Given the description of an element on the screen output the (x, y) to click on. 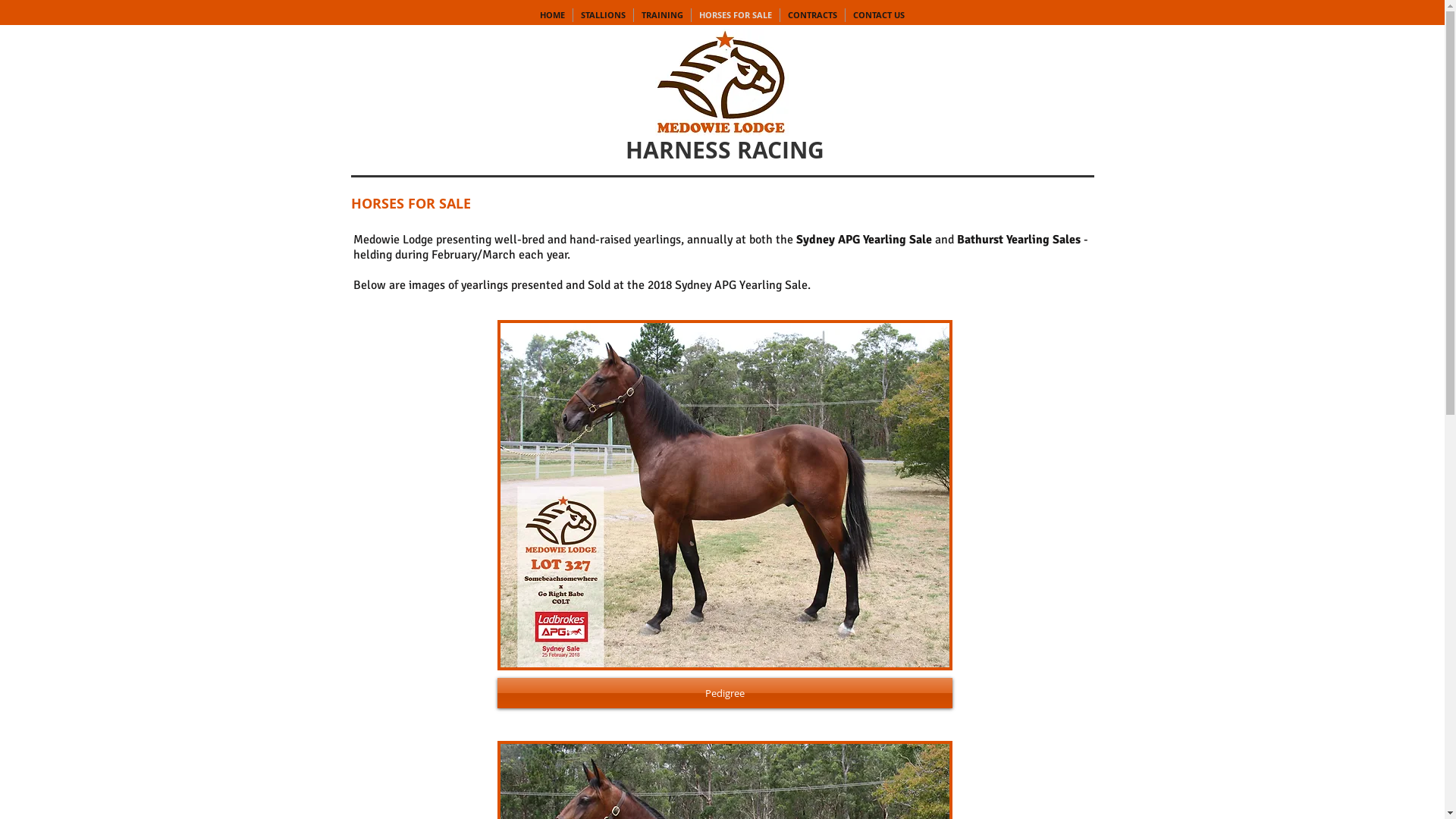
CONTACT US Element type: text (878, 14)
TRAINING Element type: text (661, 14)
CONTRACTS Element type: text (812, 14)
STALLIONS Element type: text (603, 14)
HOME Element type: text (552, 14)
Pedigree Element type: text (724, 692)
medowie-lodge-logo.jpg Element type: hover (721, 81)
HORSES FOR SALE Element type: text (735, 14)
